Given the description of an element on the screen output the (x, y) to click on. 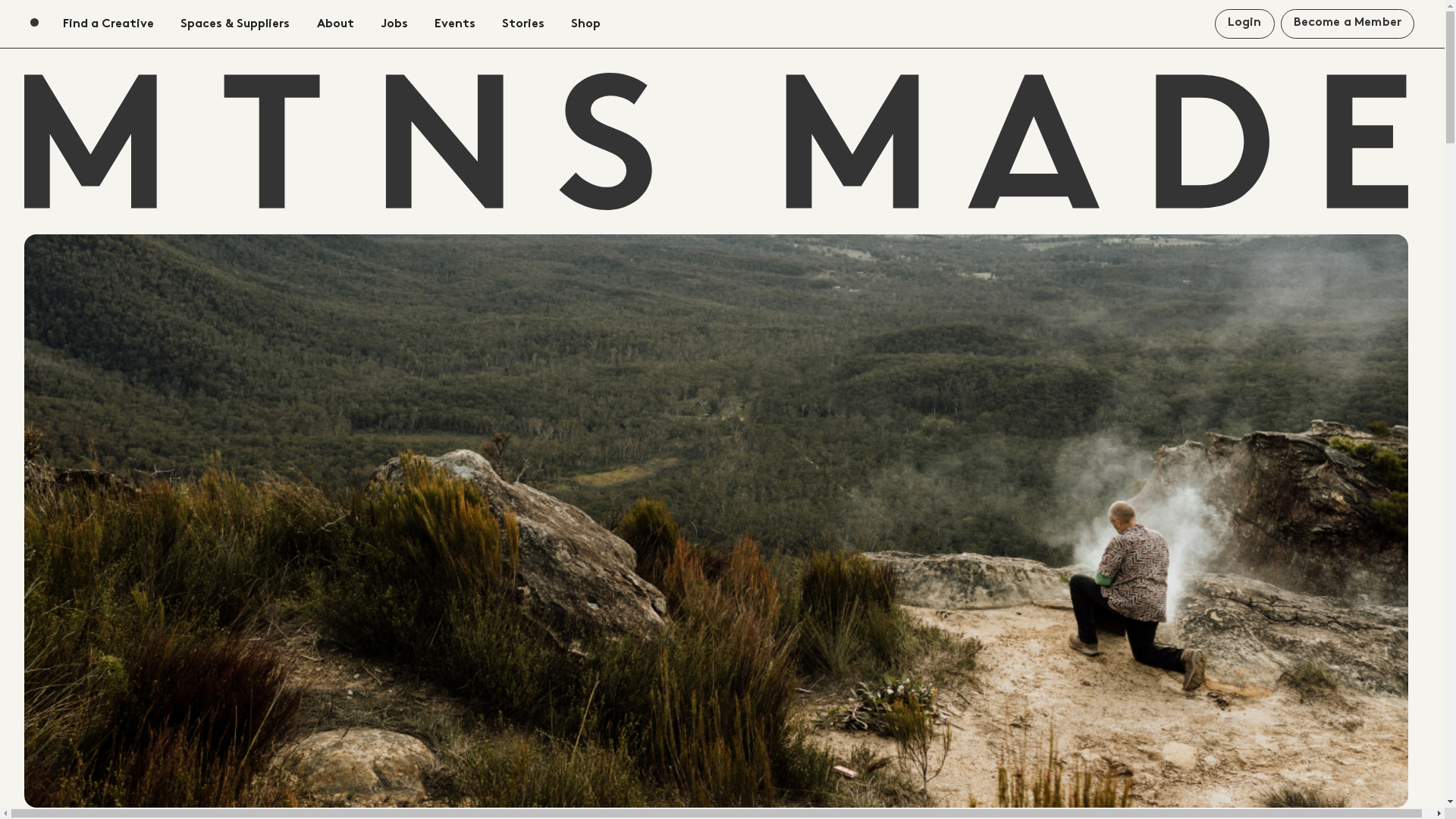
Events Element type: text (454, 23)
Stories Element type: text (522, 23)
Find a Creative Element type: text (108, 23)
About Element type: text (335, 23)
Spaces & Suppliers Element type: text (234, 23)
Login Element type: text (1244, 23)
Jobs Element type: text (394, 23)
Shop Element type: text (585, 23)
Become a Member Element type: text (1347, 23)
